Given the description of an element on the screen output the (x, y) to click on. 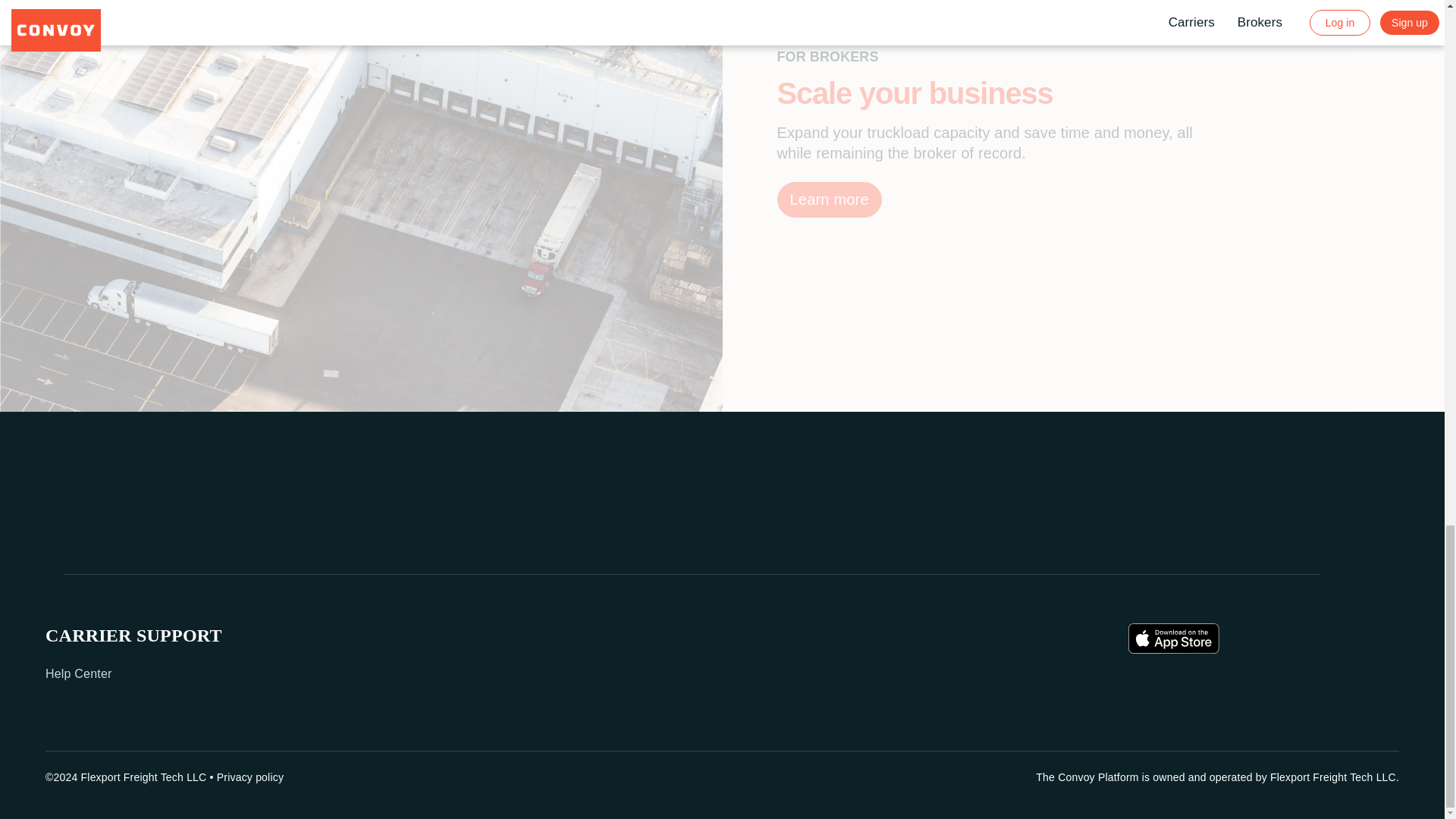
Learn more (828, 199)
Privacy policy (249, 776)
Help Center (78, 673)
